Given the description of an element on the screen output the (x, y) to click on. 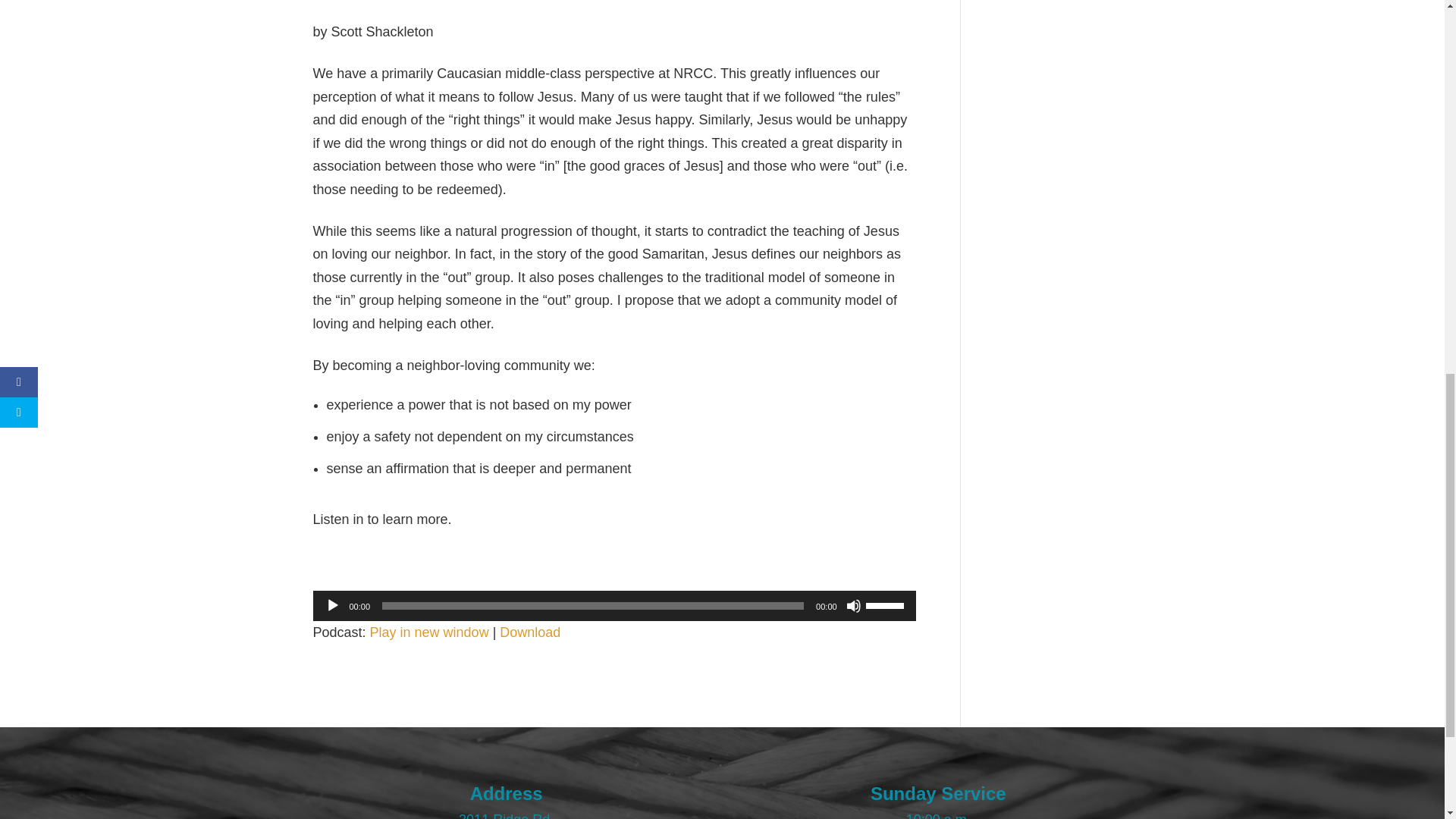
Play (331, 605)
Mute (853, 605)
Play in new window (429, 631)
Download (529, 631)
